Given the description of an element on the screen output the (x, y) to click on. 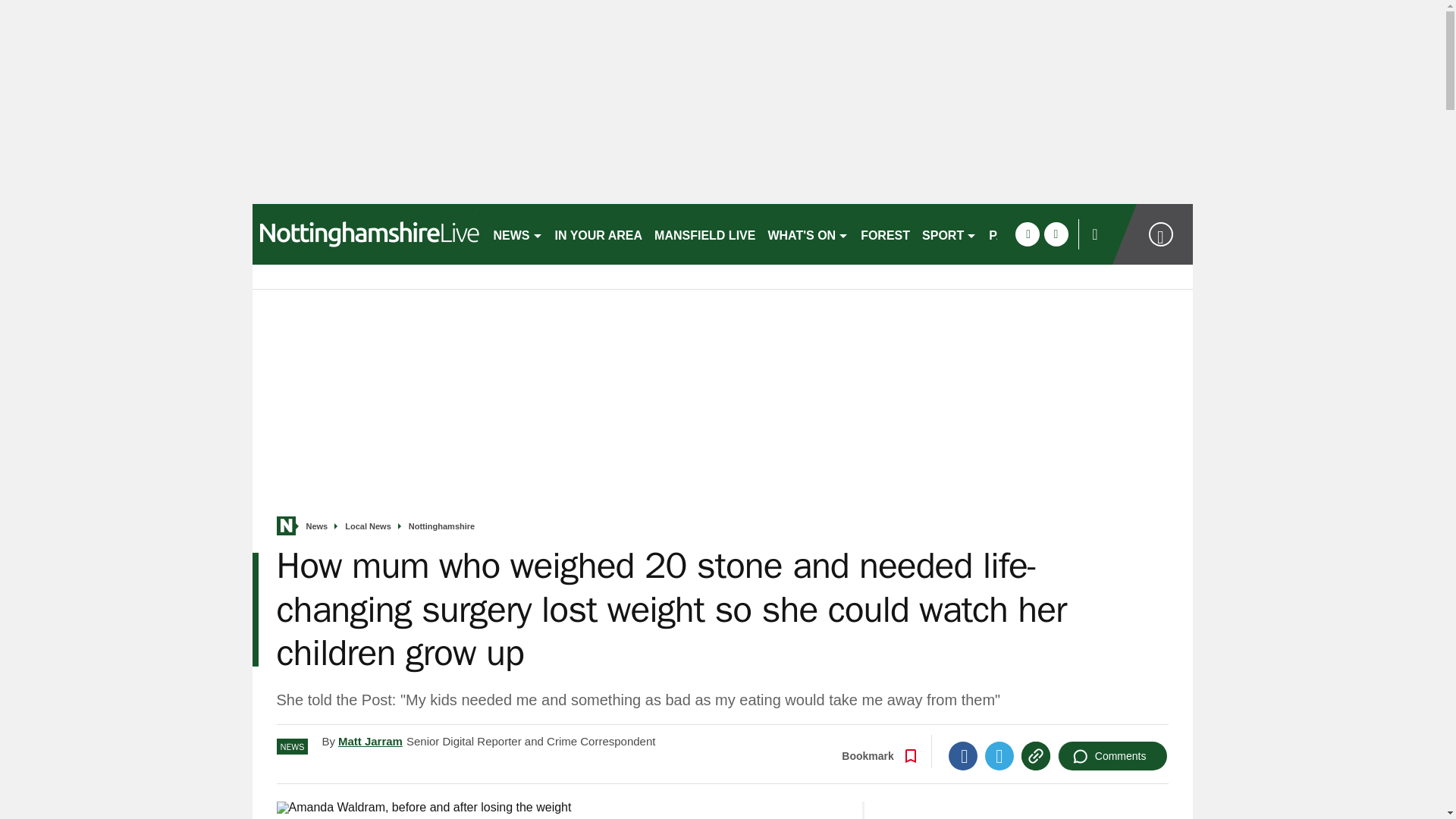
SPORT (948, 233)
PARTNER STORIES (1045, 233)
NEWS (517, 233)
WHAT'S ON (807, 233)
facebook (1026, 233)
IN YOUR AREA (598, 233)
Comments (1112, 756)
MANSFIELD LIVE (704, 233)
Twitter (999, 756)
FOREST (884, 233)
Facebook (962, 756)
nottinghampost (365, 233)
twitter (1055, 233)
